Given the description of an element on the screen output the (x, y) to click on. 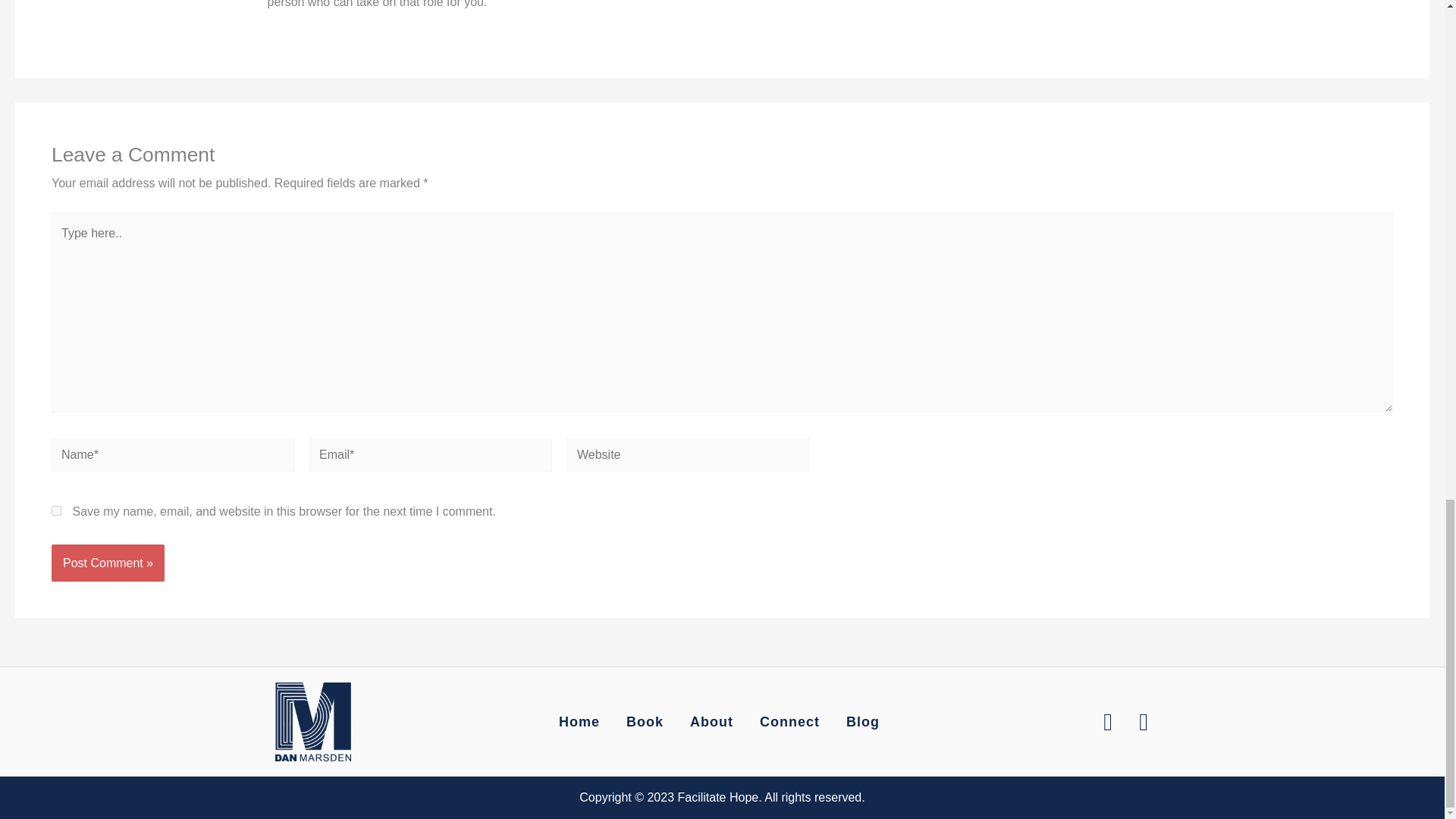
Blog (862, 721)
Home (579, 721)
About (711, 721)
Book (644, 721)
Connect (789, 721)
yes (55, 510)
